Given the description of an element on the screen output the (x, y) to click on. 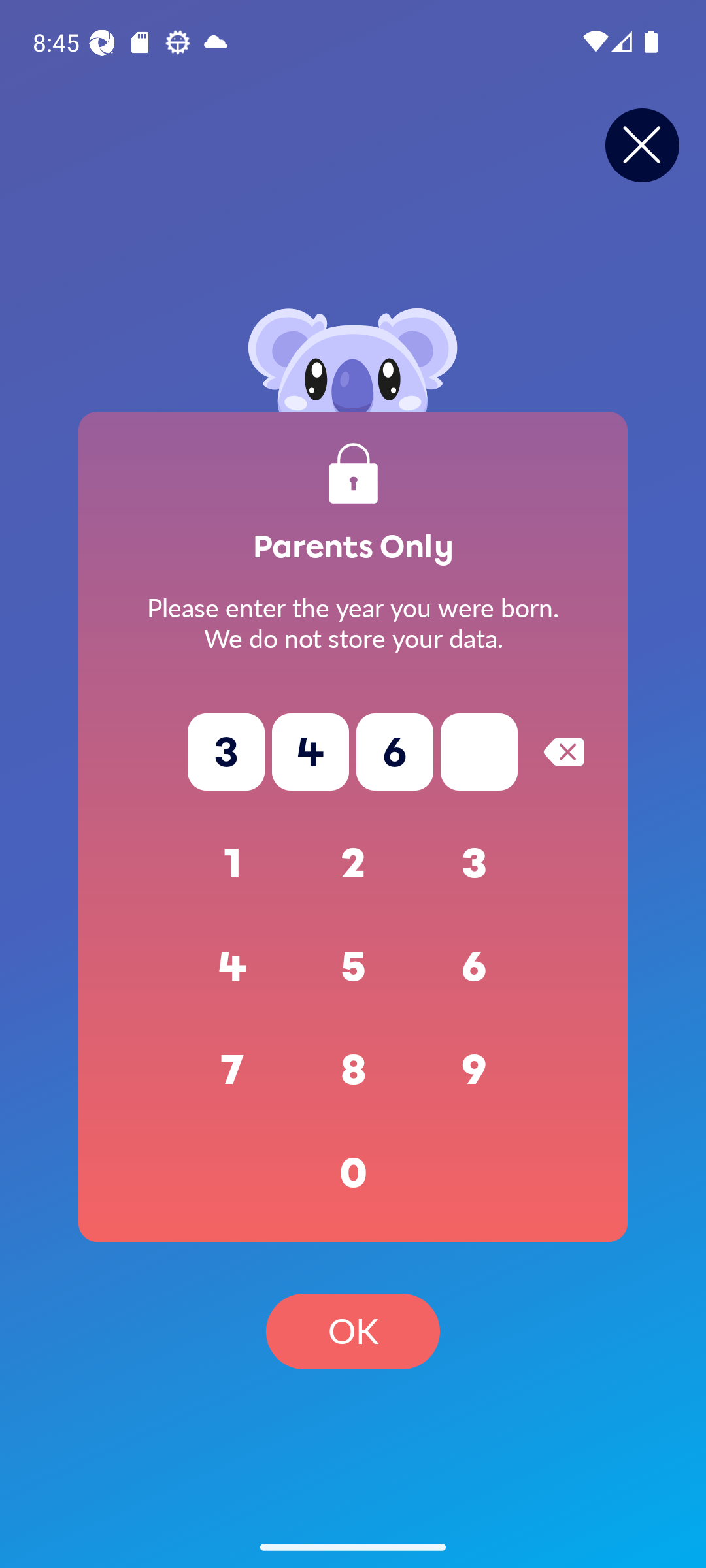
Delete (563, 751)
1 (232, 863)
2 (353, 863)
3 (474, 863)
4 (232, 966)
5 (353, 966)
6 (474, 966)
7 (232, 1069)
8 (353, 1069)
9 (474, 1069)
0 (353, 1173)
OK (352, 1331)
